Given the description of an element on the screen output the (x, y) to click on. 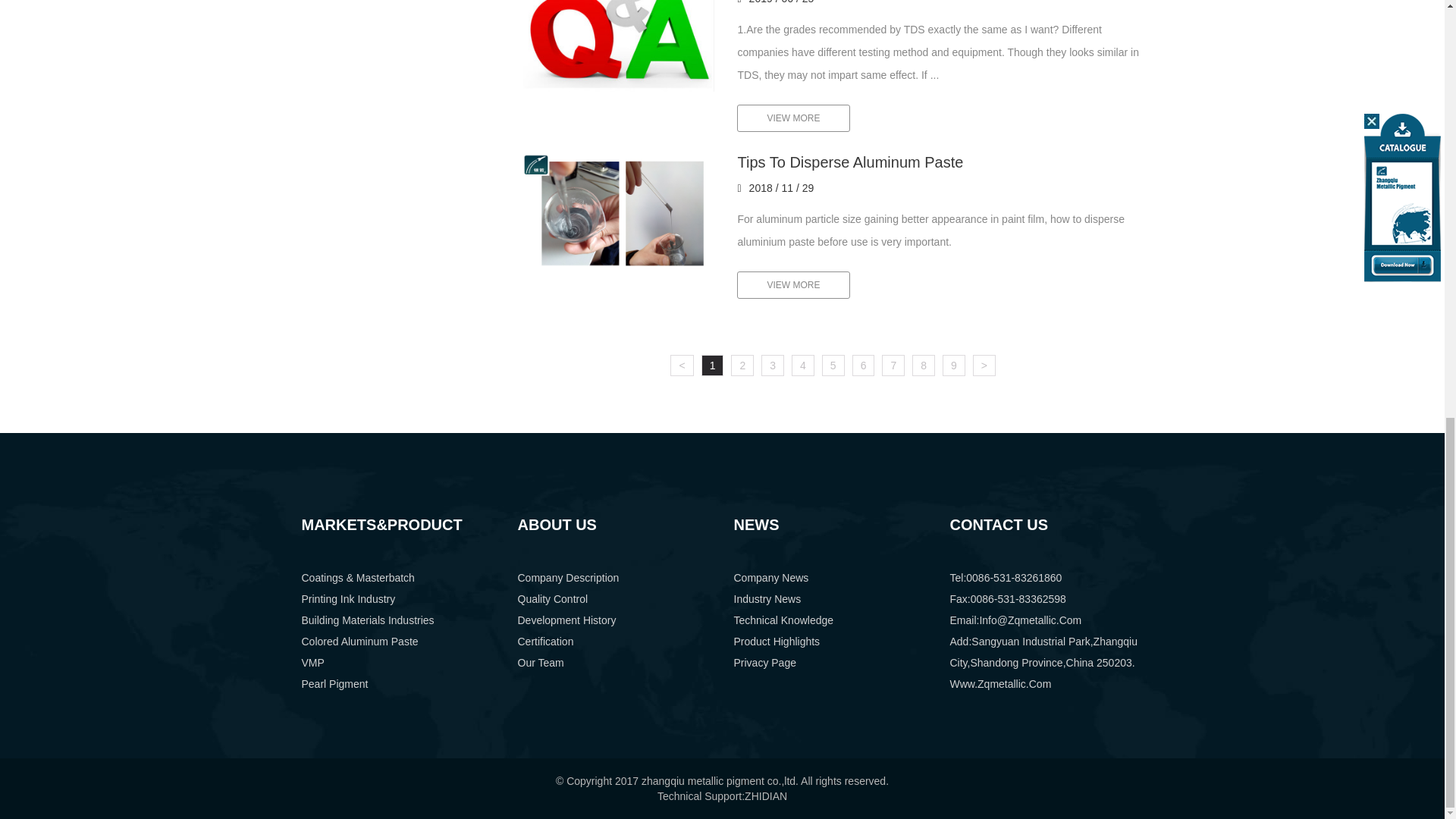
Page 4  (802, 364)
Page 7  (893, 364)
Tips To Disperse Aluminum Paste (618, 212)
Next Page (983, 364)
Page 3  (772, 364)
Page 9  (953, 364)
Page 6  (863, 364)
Page 8  (923, 364)
Page 5  (833, 364)
Page 2  (742, 364)
Is the first page (681, 364)
FAQ (618, 45)
